Given the description of an element on the screen output the (x, y) to click on. 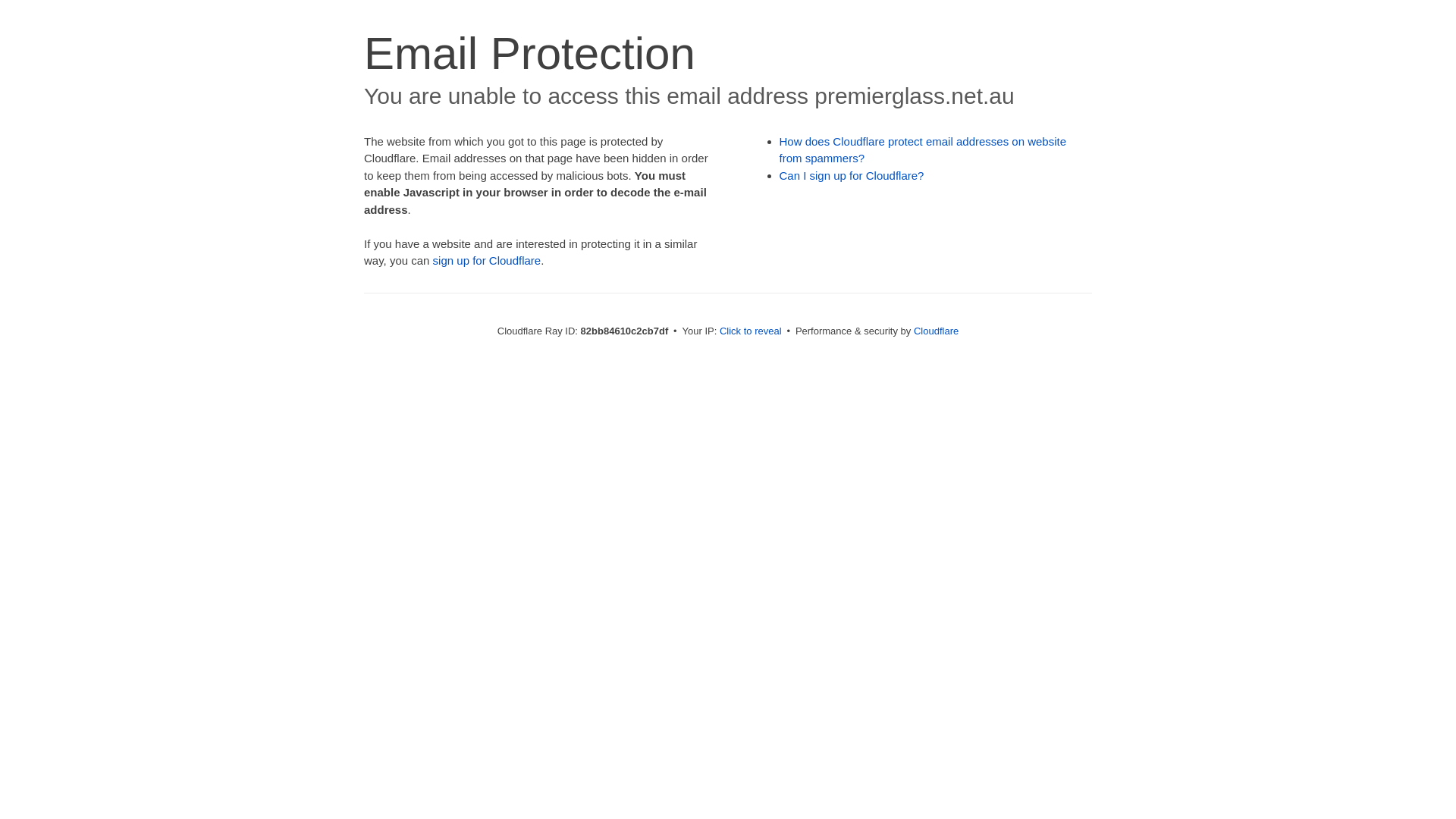
Click to reveal Element type: text (750, 330)
sign up for Cloudflare Element type: text (487, 260)
Cloudflare Element type: text (935, 330)
Can I sign up for Cloudflare? Element type: text (851, 175)
